Given the description of an element on the screen output the (x, y) to click on. 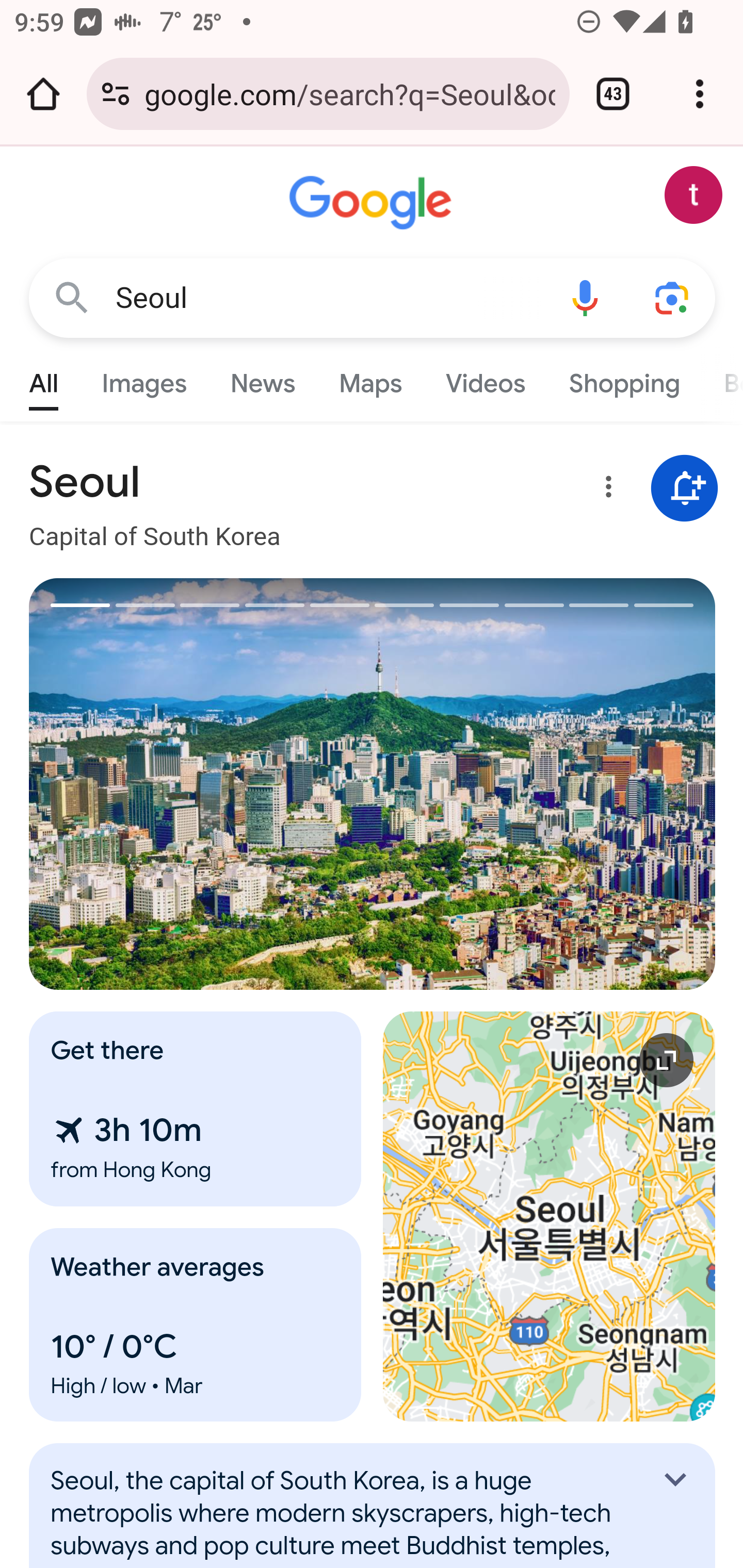
Open the home page (43, 93)
Connection is secure (115, 93)
Switch or close tabs (612, 93)
Customize and control Google Chrome (699, 93)
Google (372, 203)
Google Search (71, 296)
Search using your camera or photos (672, 296)
Seoul (328, 297)
Images (144, 378)
News (262, 378)
Maps (369, 378)
Videos (485, 378)
Shopping (623, 378)
Get notifications about Seoul (684, 489)
More options (605, 489)
Previous image (200, 783)
Next image (544, 783)
Expand map (549, 1216)
Weather averages 10° / 0°C High / low • Mar (195, 1324)
